Given the description of an element on the screen output the (x, y) to click on. 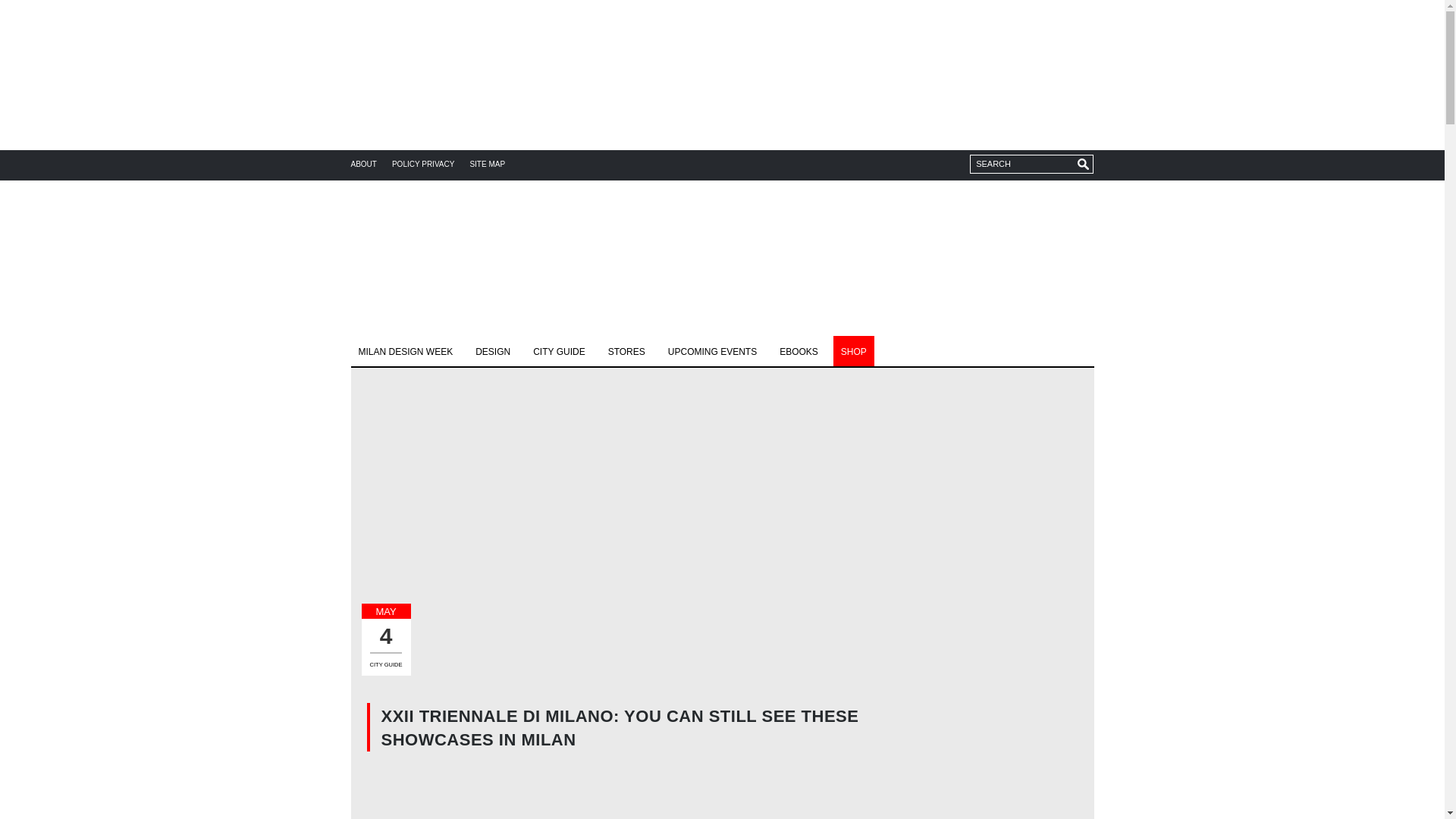
Search (1031, 163)
